Given the description of an element on the screen output the (x, y) to click on. 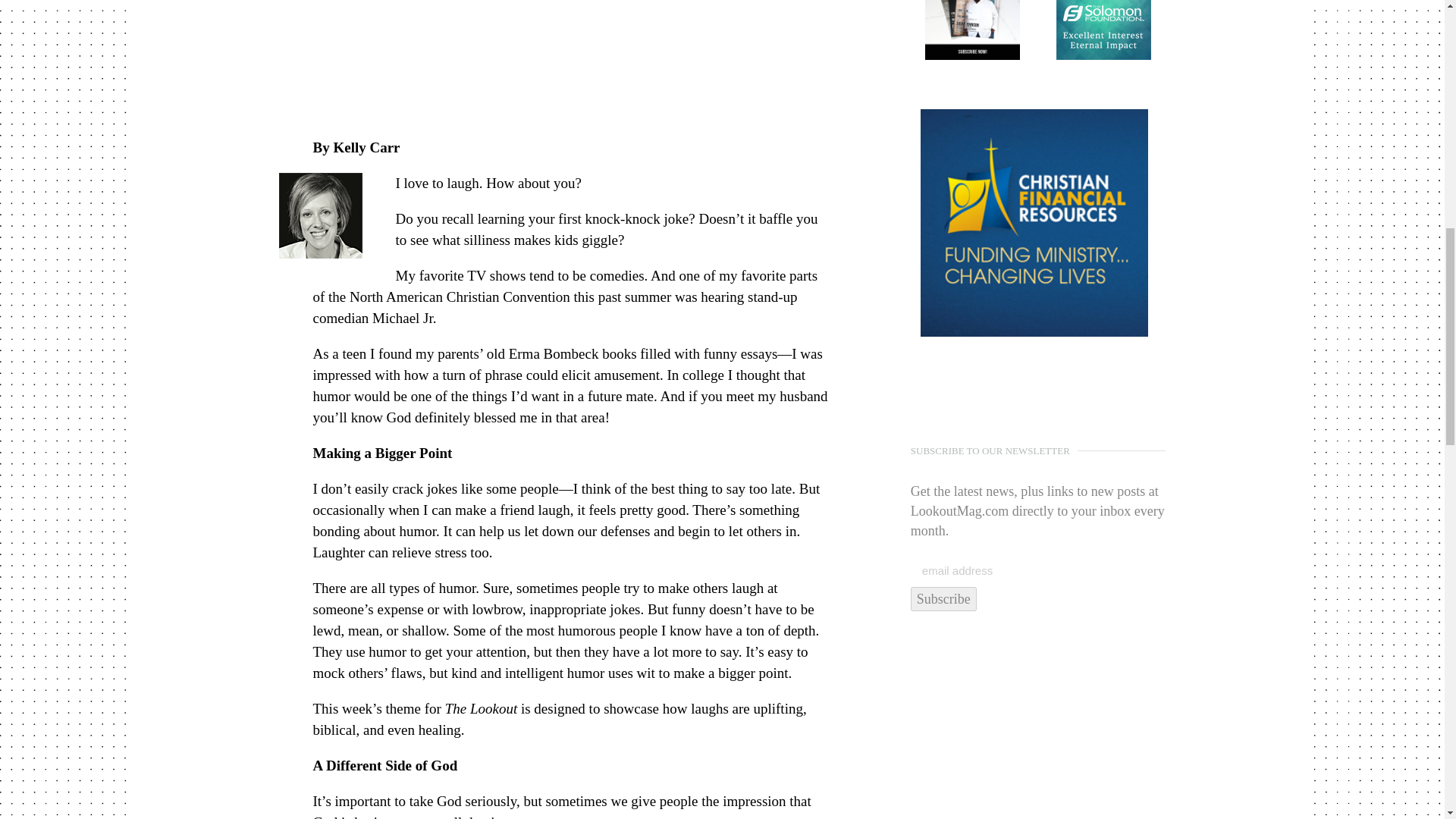
Subscribe (943, 598)
Subscribe (943, 598)
